Given the description of an element on the screen output the (x, y) to click on. 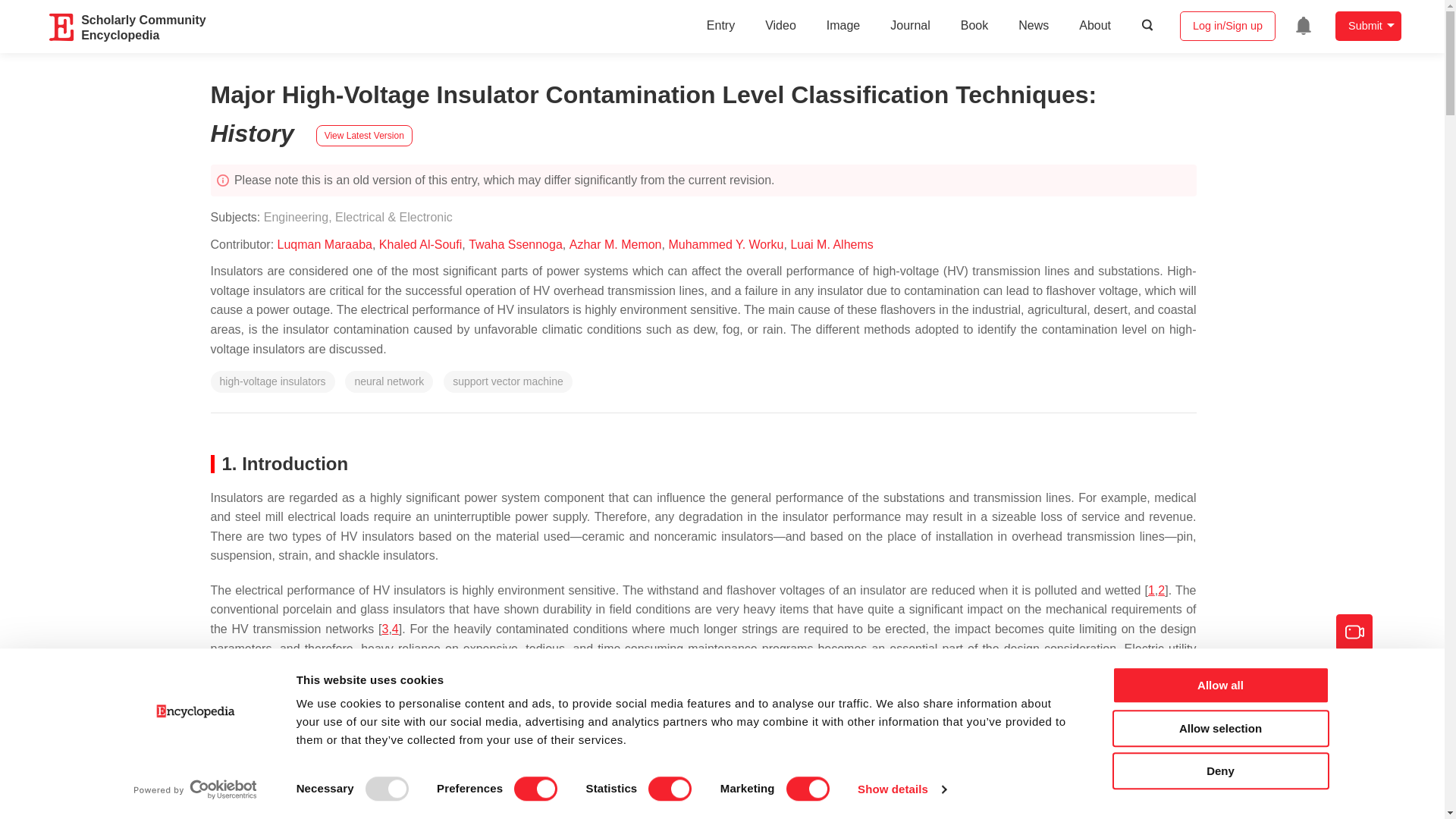
Show details (900, 789)
View latest version (363, 135)
Deny (1219, 770)
